Given the description of an element on the screen output the (x, y) to click on. 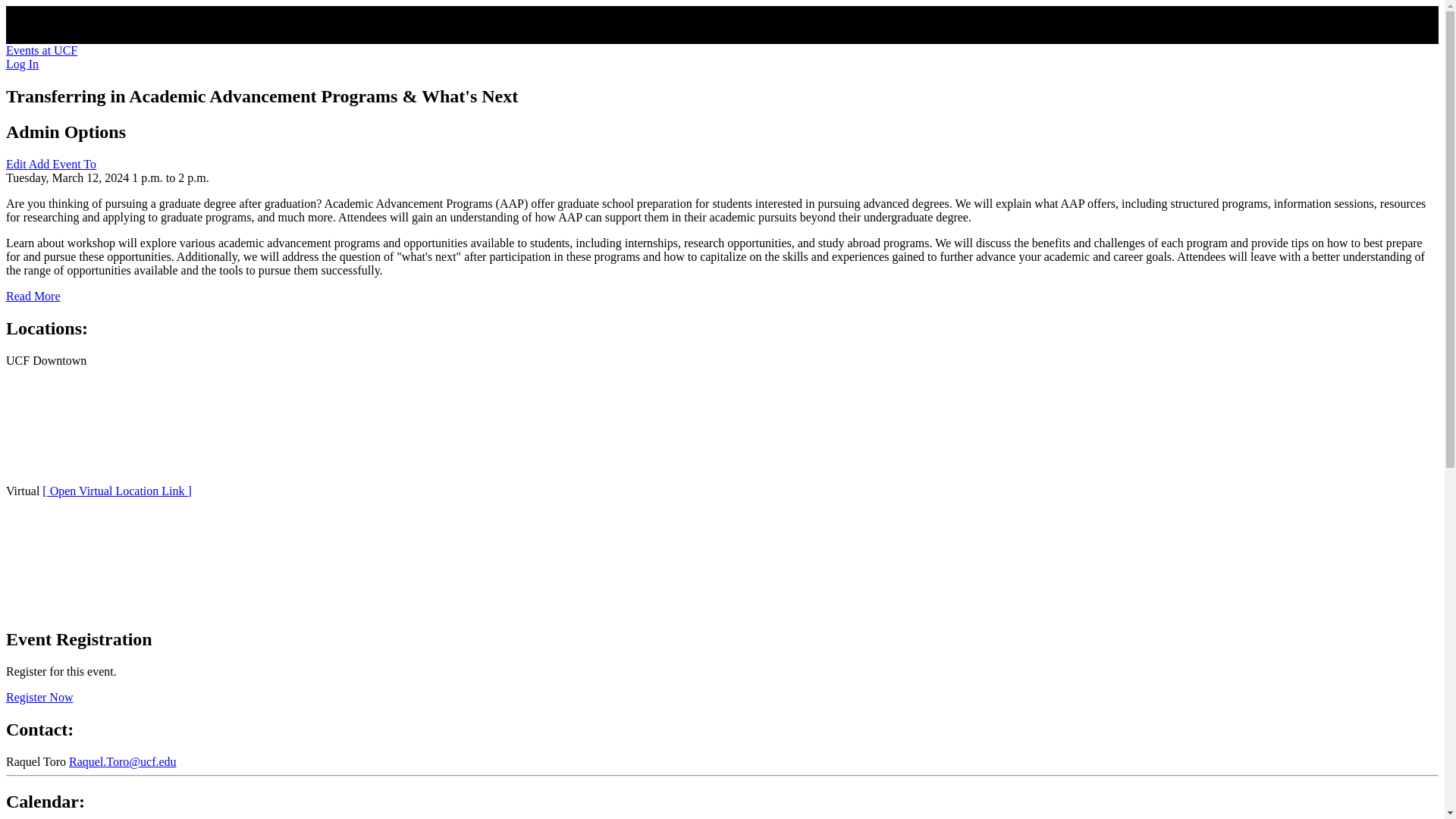
Log In (22, 63)
Read More (33, 295)
Add Event To (62, 164)
Events at UCF (41, 50)
Edit (17, 164)
Register Now (38, 697)
